Given the description of an element on the screen output the (x, y) to click on. 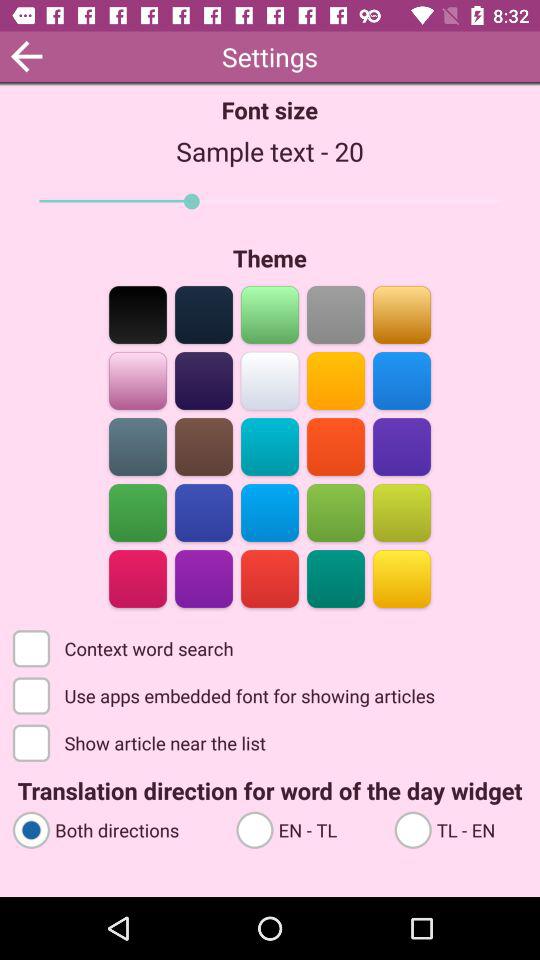
theme color option (335, 313)
